Given the description of an element on the screen output the (x, y) to click on. 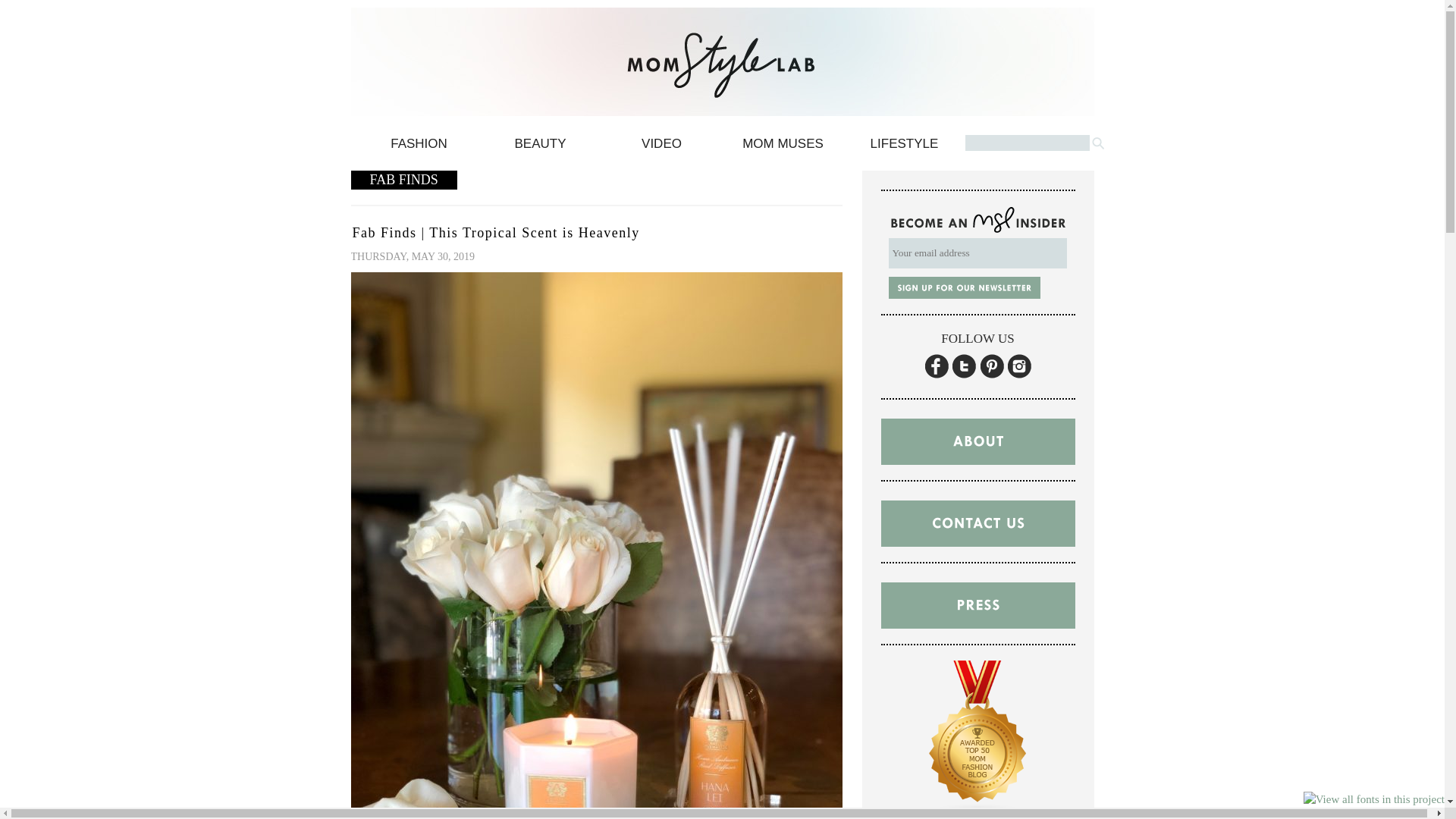
FASHION (418, 146)
VIDEO (660, 146)
Search (1097, 142)
MOM MUSES (782, 146)
Mom Fashion blogs (977, 816)
Sign Up for Our Newsletter (964, 287)
Search (1097, 142)
BEAUTY (539, 146)
Sign Up for Our Newsletter (964, 287)
LIFESTYLE (903, 146)
